Given the description of an element on the screen output the (x, y) to click on. 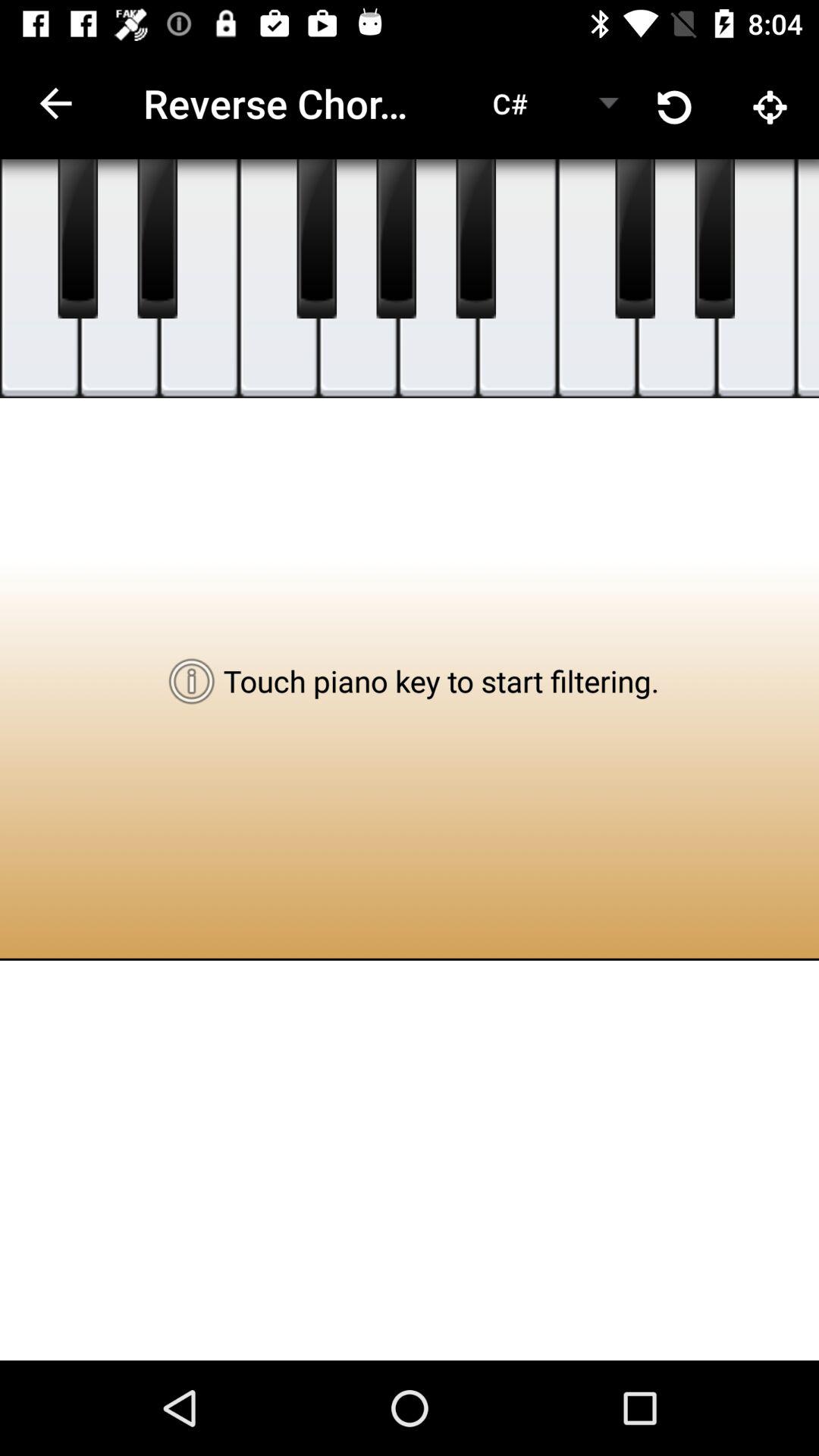
filter 6th piano key (437, 278)
